Given the description of an element on the screen output the (x, y) to click on. 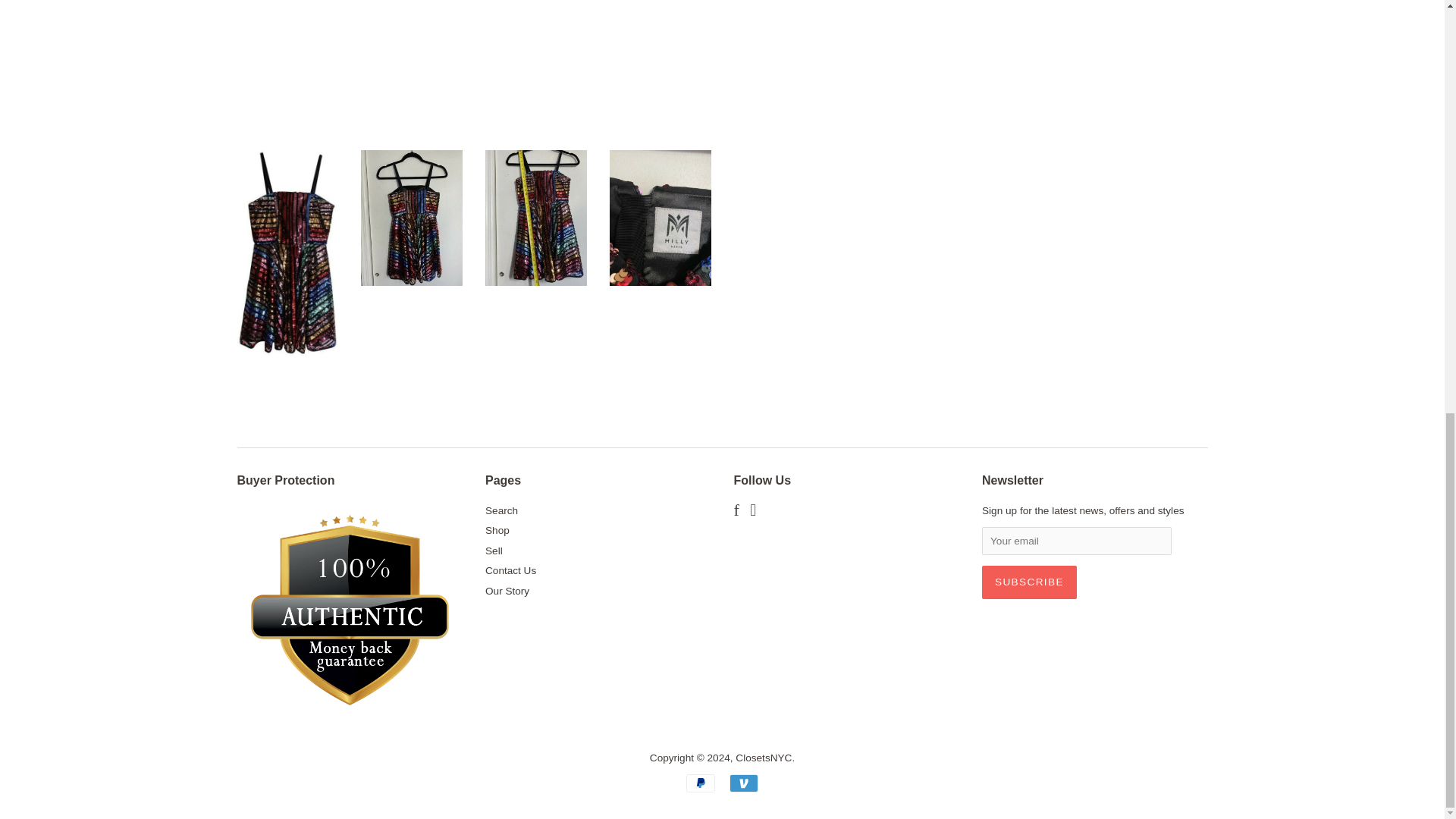
Shop (496, 530)
Sell (493, 550)
PayPal (699, 782)
Venmo (743, 782)
Subscribe (1029, 581)
Our Story (506, 591)
Subscribe (1029, 581)
ClosetsNYC (763, 757)
Contact Us (509, 570)
Search (501, 510)
